Given the description of an element on the screen output the (x, y) to click on. 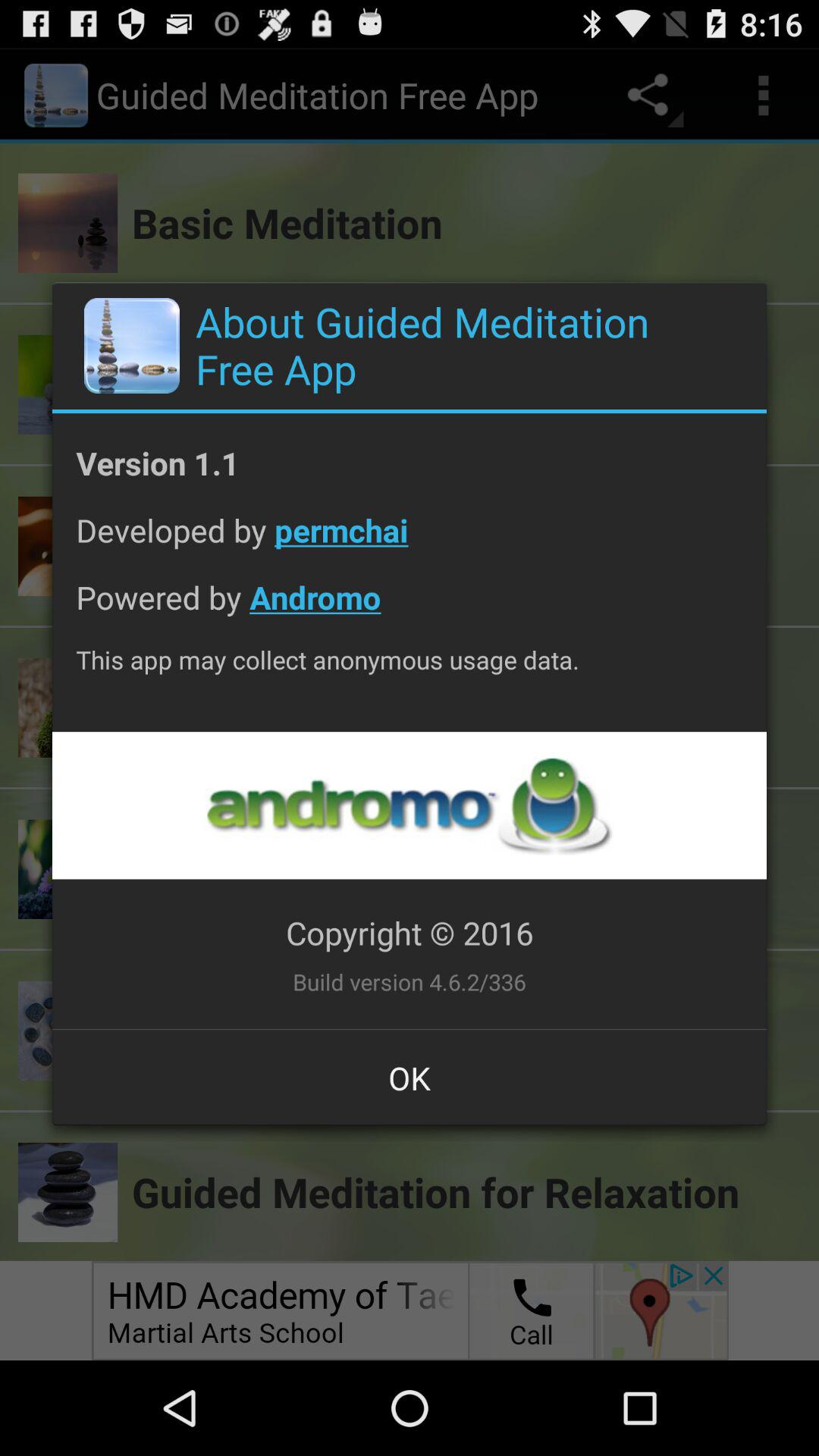
turn on developed by permchai (409, 541)
